Given the description of an element on the screen output the (x, y) to click on. 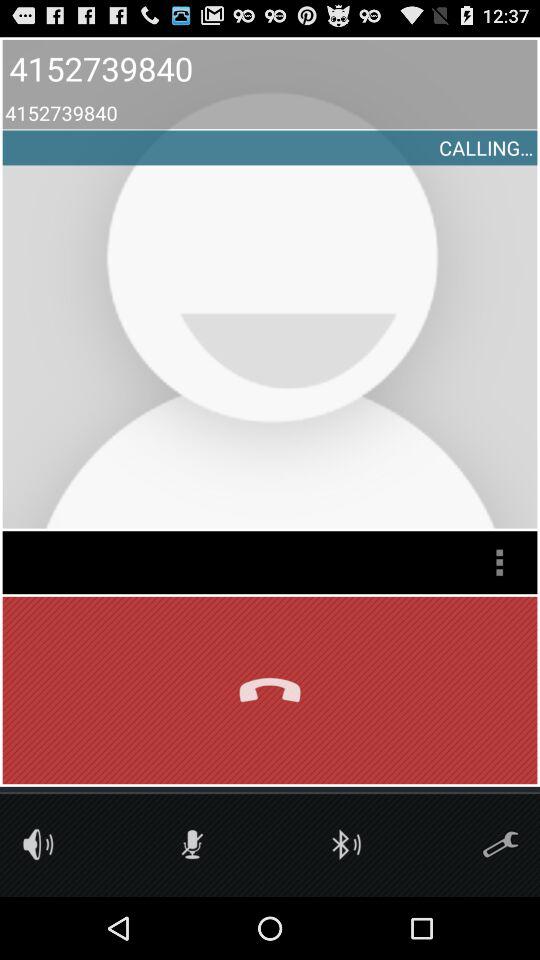
mute microphone (192, 844)
